Given the description of an element on the screen output the (x, y) to click on. 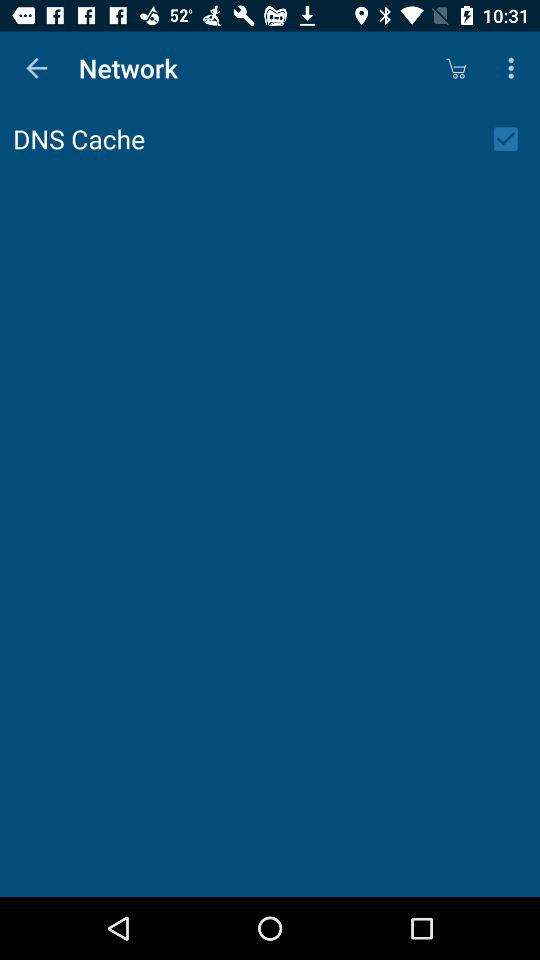
turn off icon next to the dns cache item (512, 139)
